Given the description of an element on the screen output the (x, y) to click on. 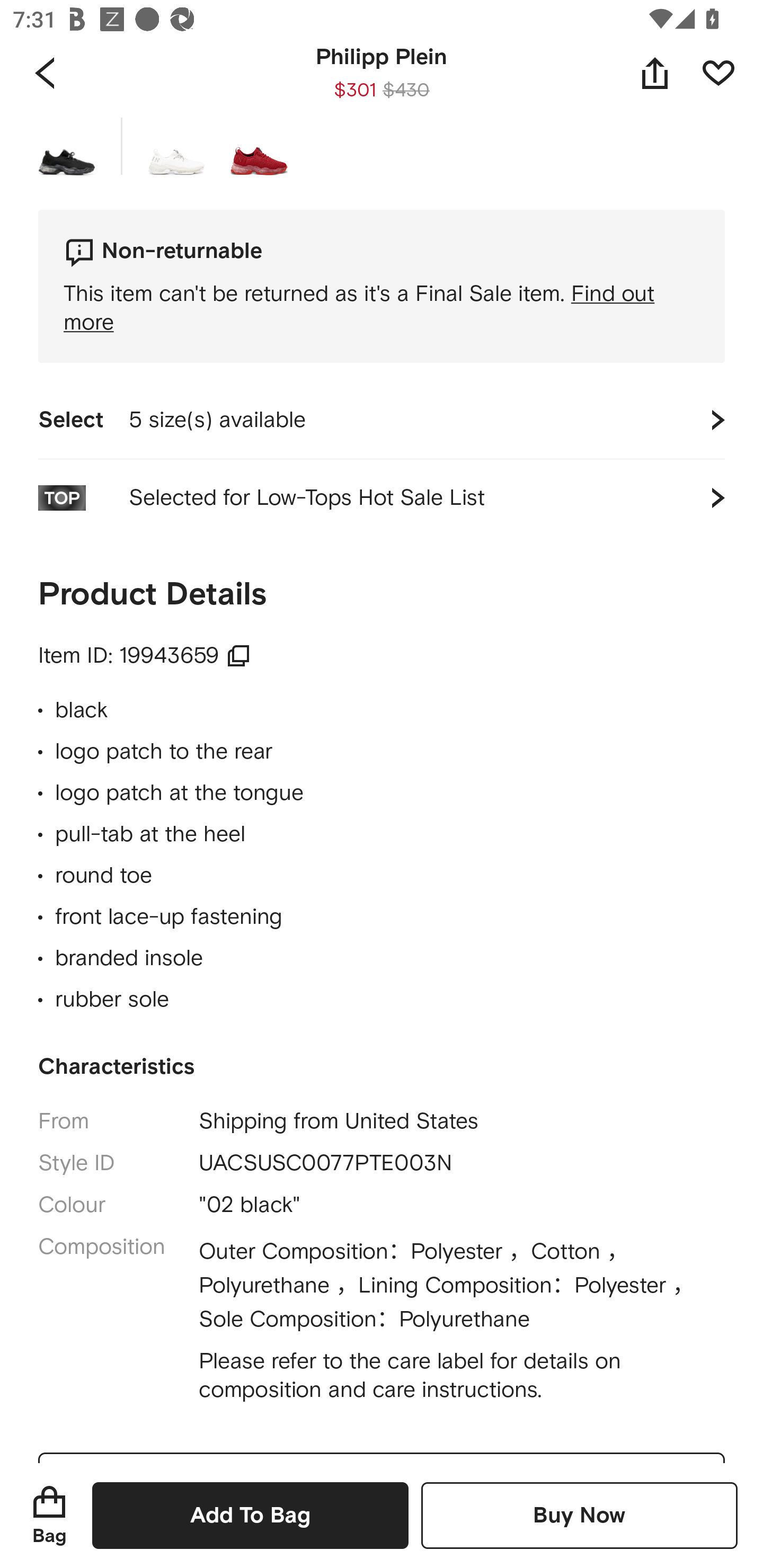
Select 5 size(s) available (381, 419)
Selected for Low-Tops Hot Sale List (381, 497)
Item ID: 19943659 (144, 656)
Bag (49, 1515)
Add To Bag (250, 1515)
Buy Now (579, 1515)
